Given the description of an element on the screen output the (x, y) to click on. 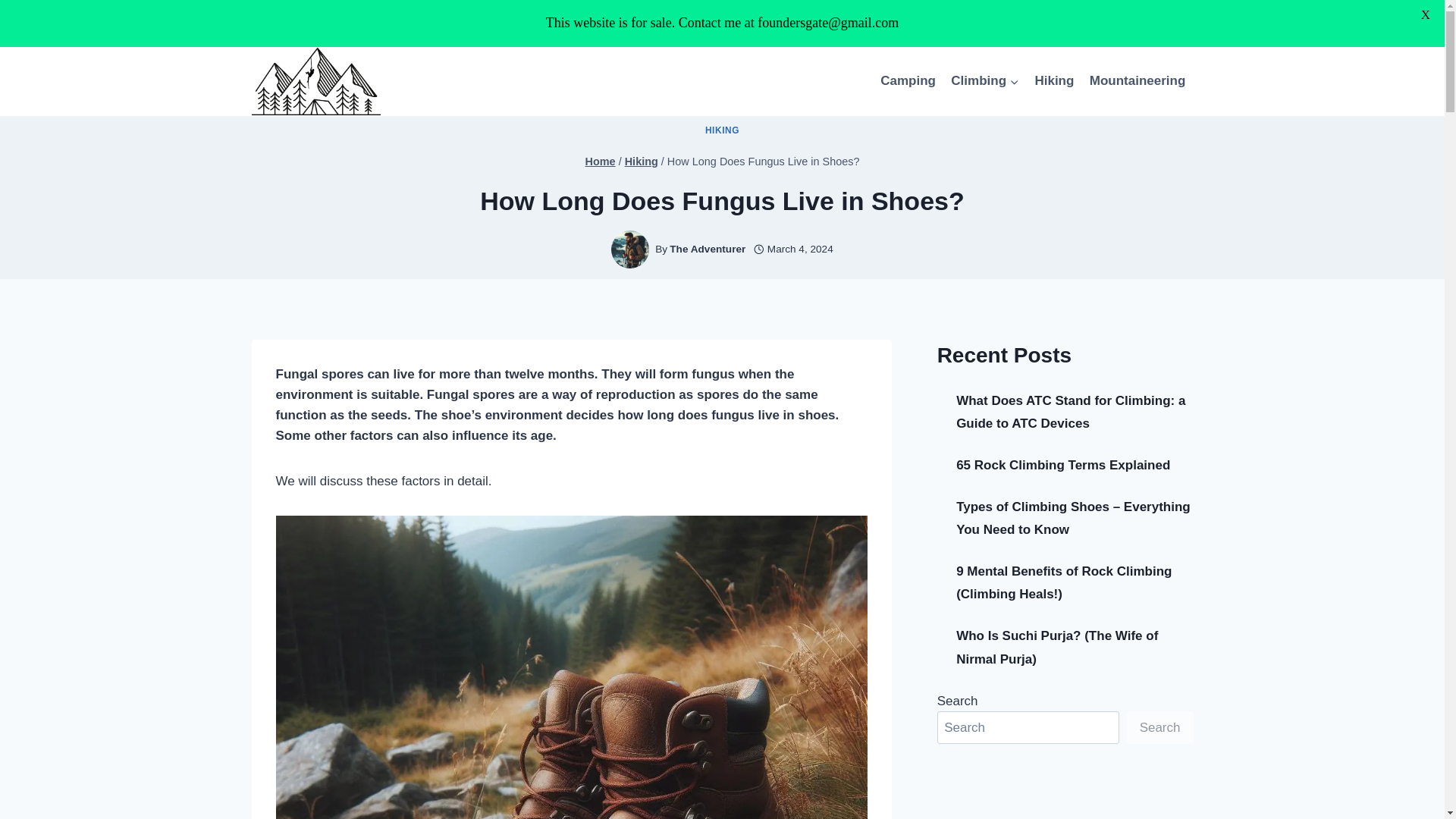
Mountaineering (1137, 81)
Hiking (641, 161)
Climbing (984, 81)
Hiking (1053, 81)
Camping (907, 81)
The Adventurer (707, 248)
HIKING (721, 130)
Home (600, 161)
